Given the description of an element on the screen output the (x, y) to click on. 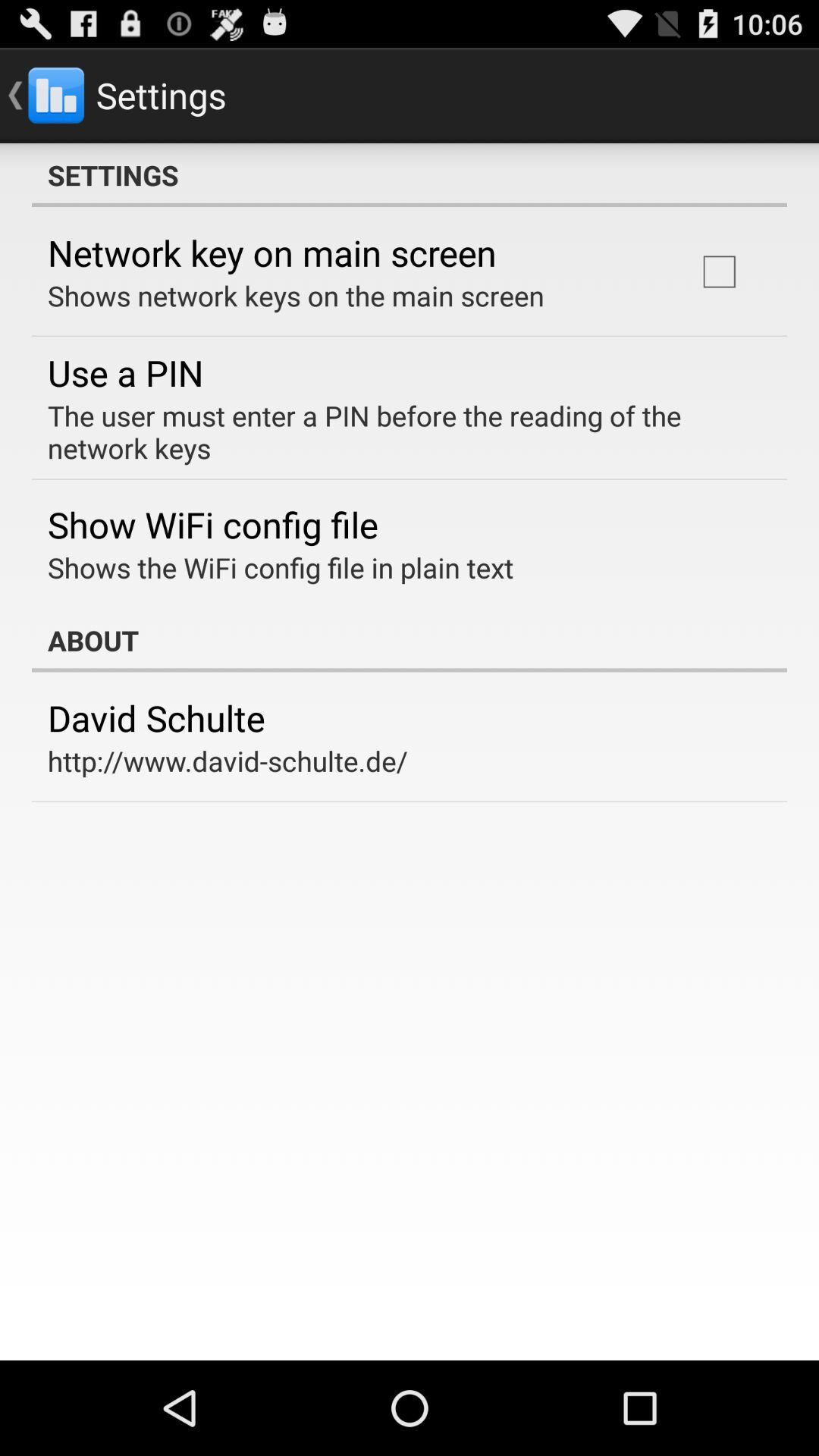
turn off icon above the the user must app (719, 271)
